Given the description of an element on the screen output the (x, y) to click on. 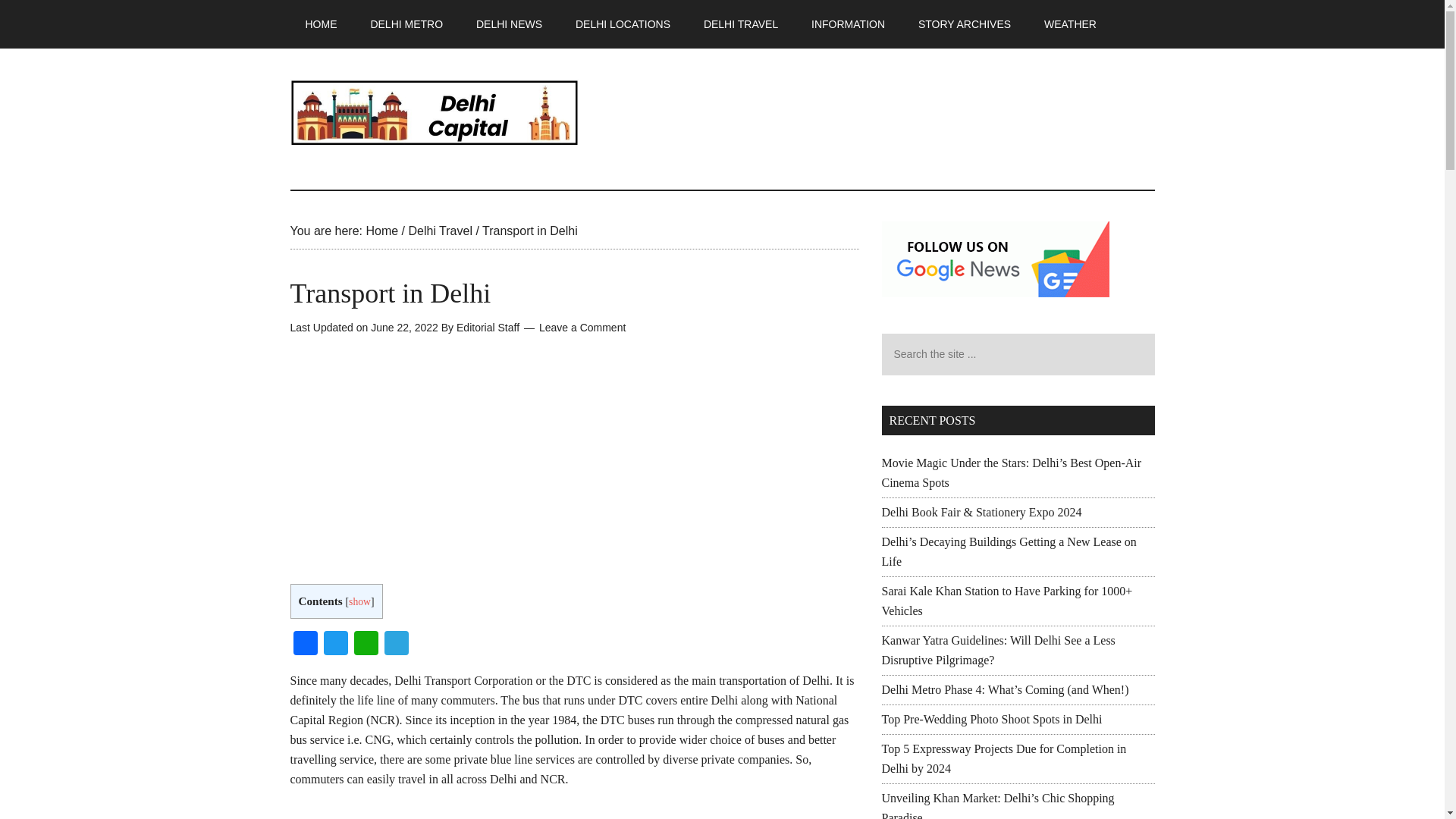
HOME (320, 24)
WEATHER (1070, 24)
Home (381, 230)
INFORMATION (847, 24)
Facebook (304, 644)
WhatsApp (365, 644)
Facebook (304, 644)
DELHI TRAVEL (740, 24)
